Given the description of an element on the screen output the (x, y) to click on. 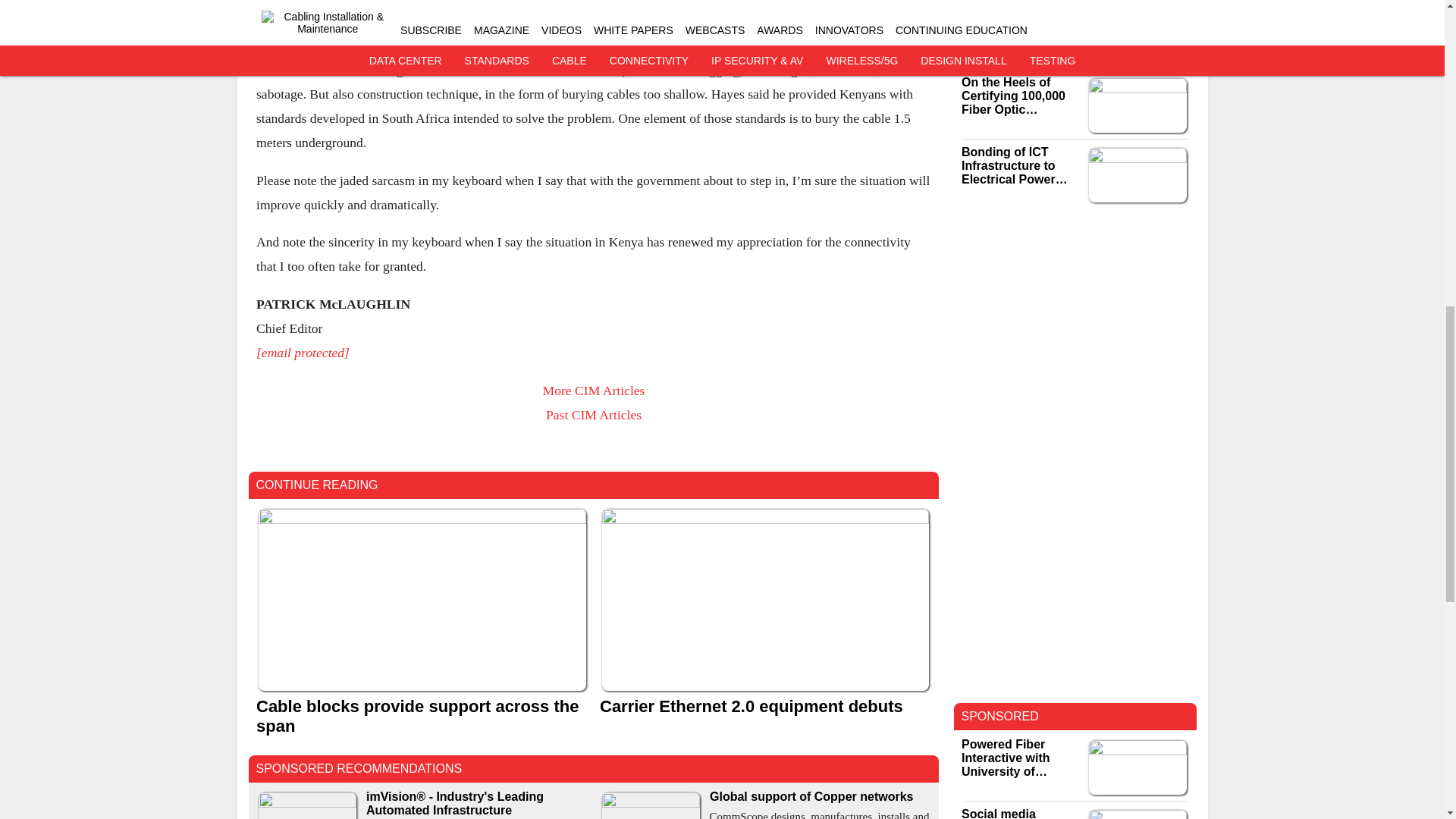
Past CIM Articles (592, 413)
Cable blocks provide support across the span (422, 716)
More CIM Articles (593, 389)
Global support of Copper networks (820, 796)
Carrier Ethernet 2.0 equipment debuts (764, 706)
